Given the description of an element on the screen output the (x, y) to click on. 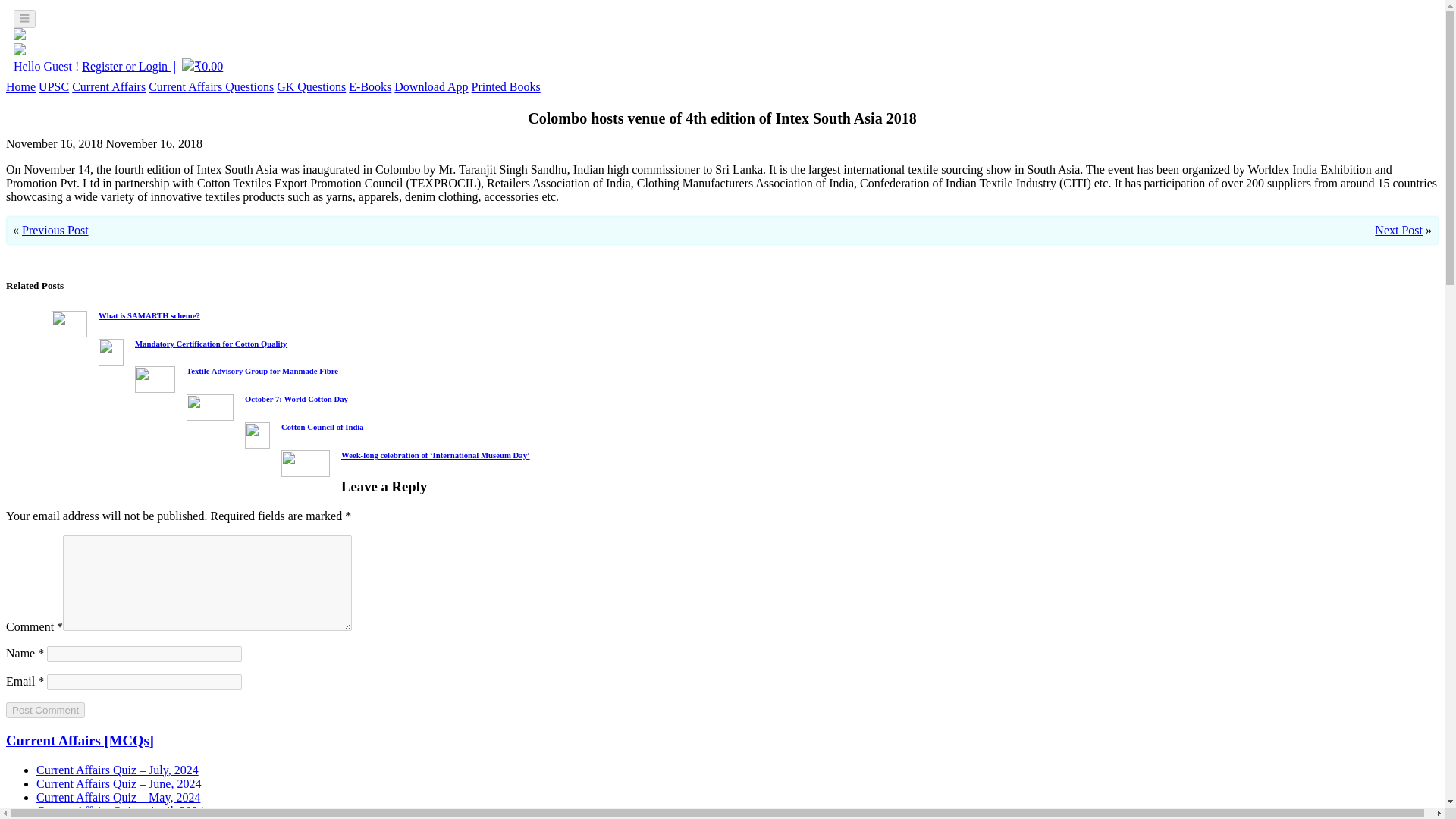
UPSC (53, 86)
Next Post (1398, 229)
Textile Advisory Group for Manmade Fibre (261, 370)
Mandatory Certification for Cotton Quality (210, 342)
What is SAMARTH scheme? (149, 315)
Textile Advisory Group for Manmade Fibre (261, 370)
Register or Login (125, 65)
Post Comment (44, 709)
Cotton Council of India (322, 426)
Home (19, 86)
Mandatory Certification for Cotton Quality (210, 342)
Current Affairs (108, 86)
What is SAMARTH scheme? (149, 315)
E-Books (370, 86)
